Given the description of an element on the screen output the (x, y) to click on. 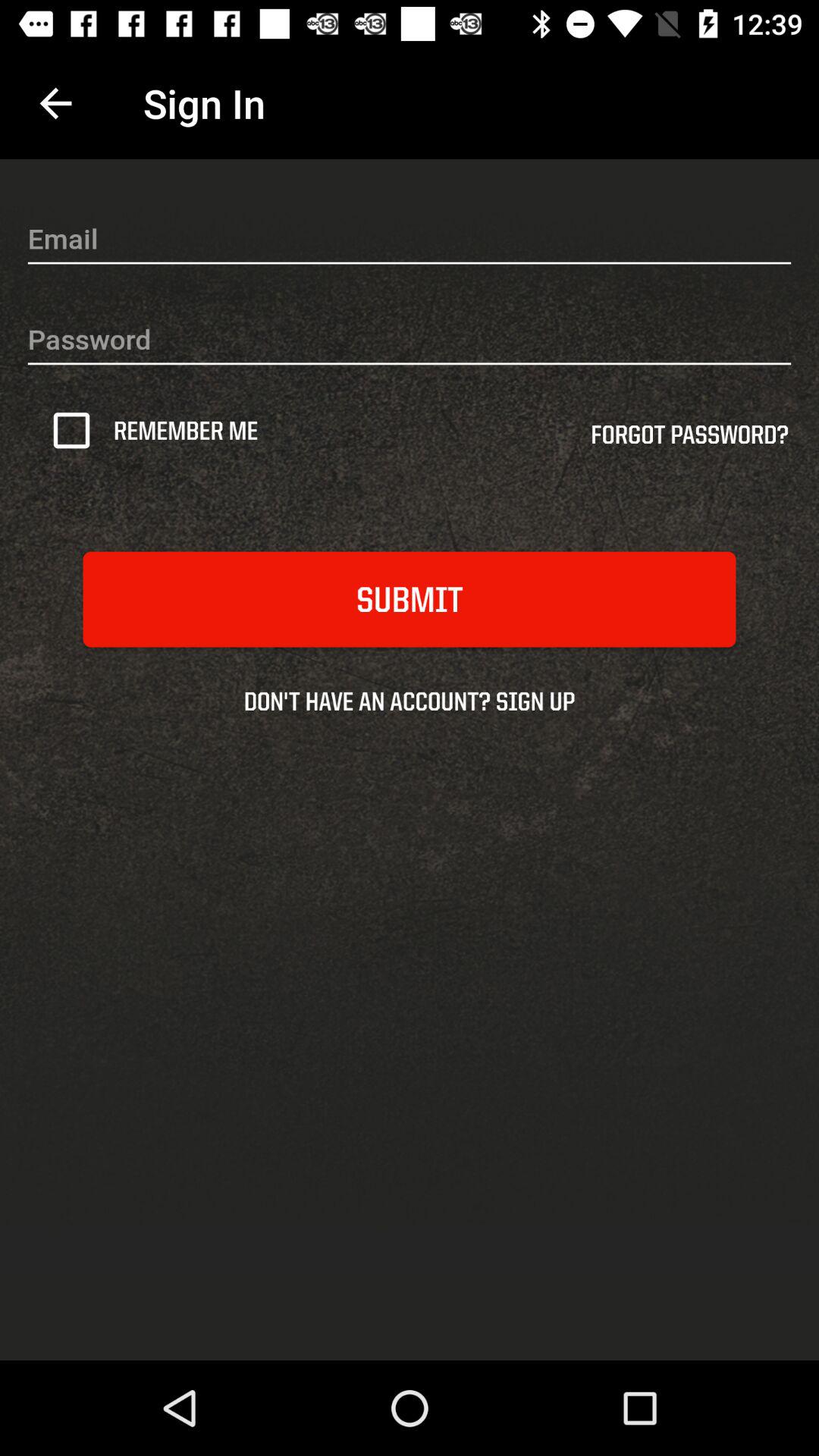
choose the item next to remember me icon (689, 439)
